Given the description of an element on the screen output the (x, y) to click on. 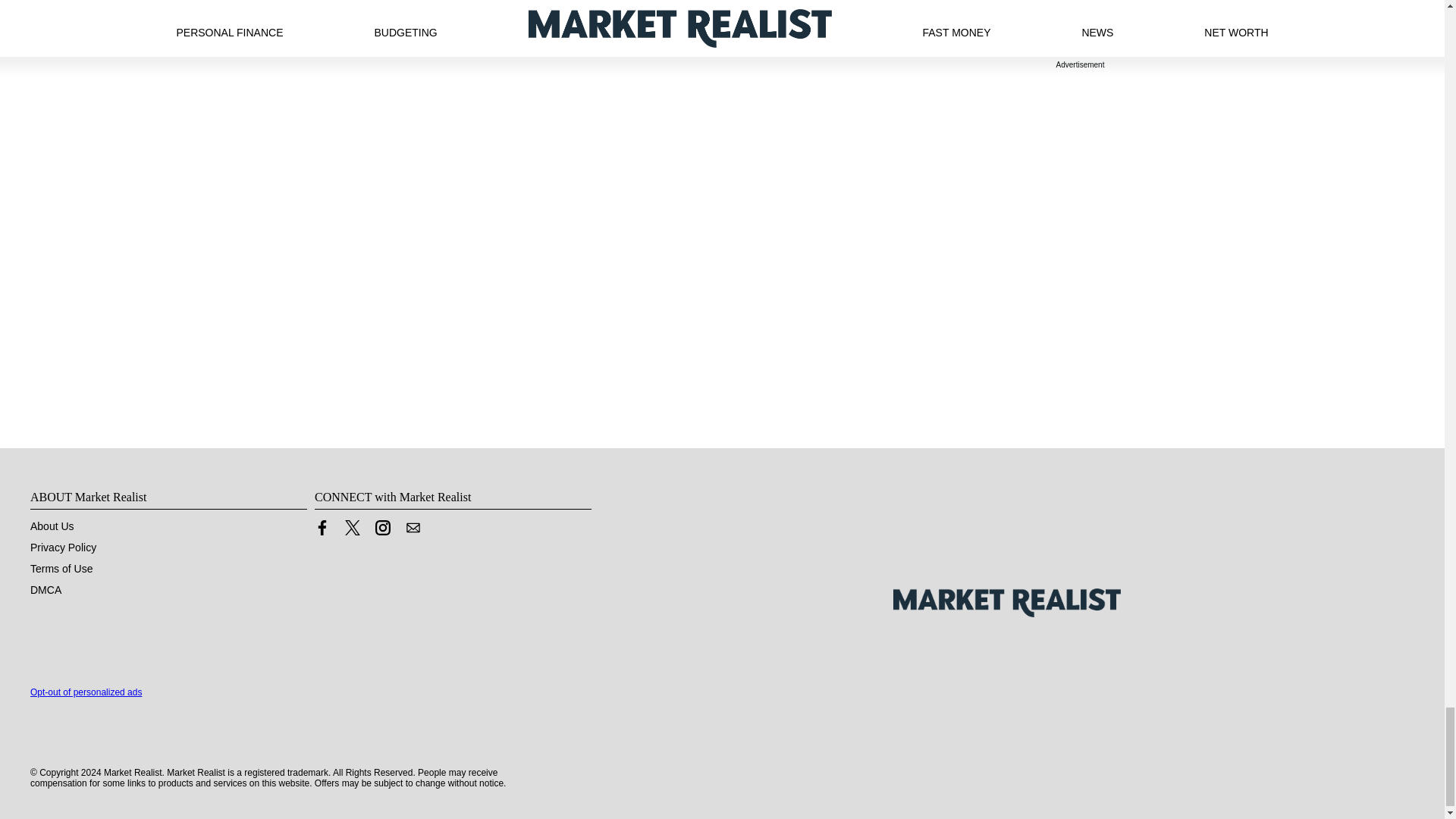
Link to X (352, 527)
Terms of Use (61, 568)
Privacy Policy (63, 547)
About Us (52, 526)
Opt-out of personalized ads (85, 692)
About Us (52, 526)
Link to Instagram (382, 531)
Link to Facebook (322, 531)
DMCA (45, 589)
Link to Facebook (322, 527)
Terms of Use (61, 568)
Contact us by Email (413, 527)
Contact us by Email (413, 531)
Privacy Policy (63, 547)
Link to X (352, 531)
